Given the description of an element on the screen output the (x, y) to click on. 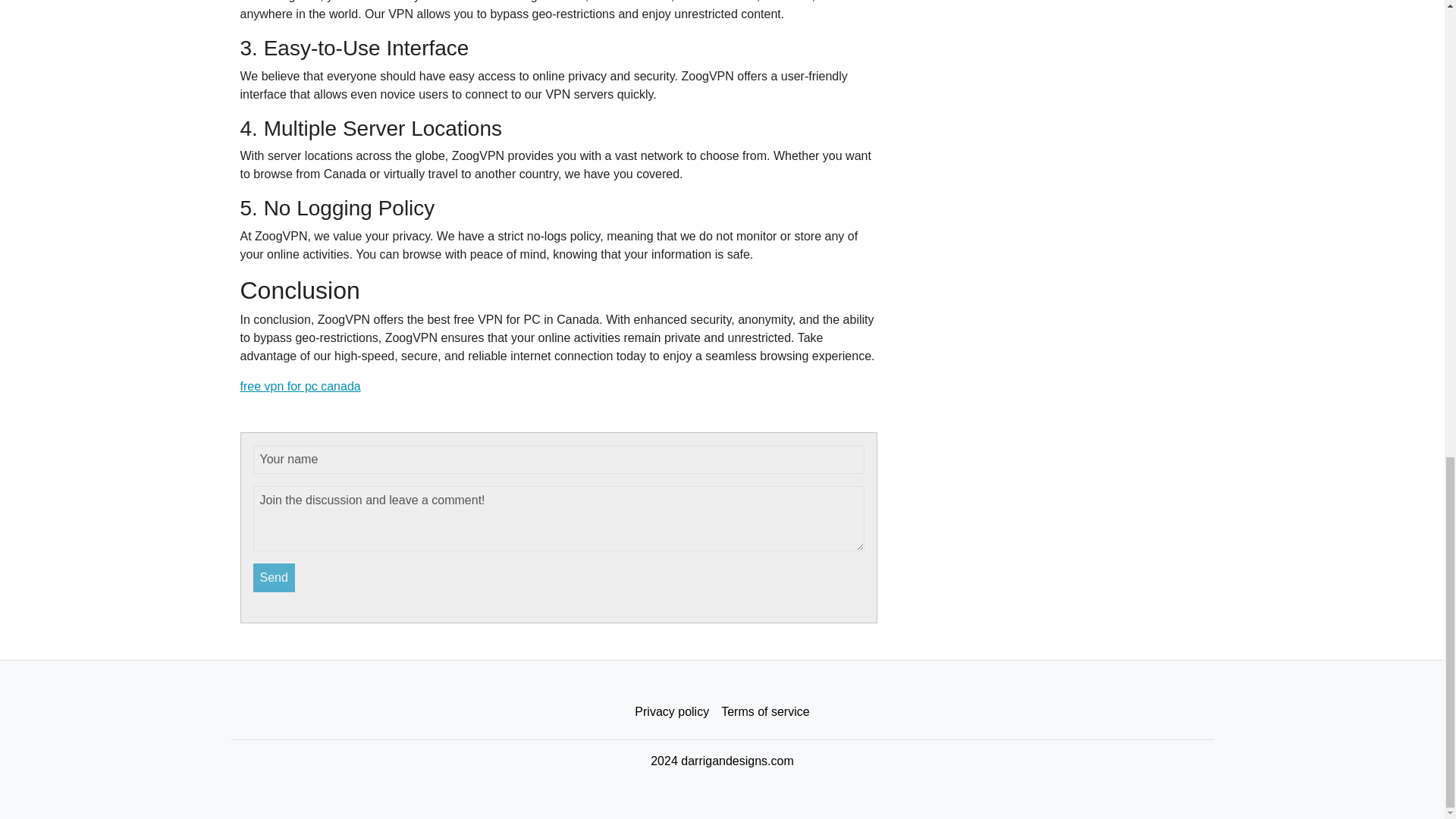
Terms of service (764, 711)
Send (274, 577)
free vpn for pc canada (299, 386)
Privacy policy (671, 711)
Send (274, 577)
